Given the description of an element on the screen output the (x, y) to click on. 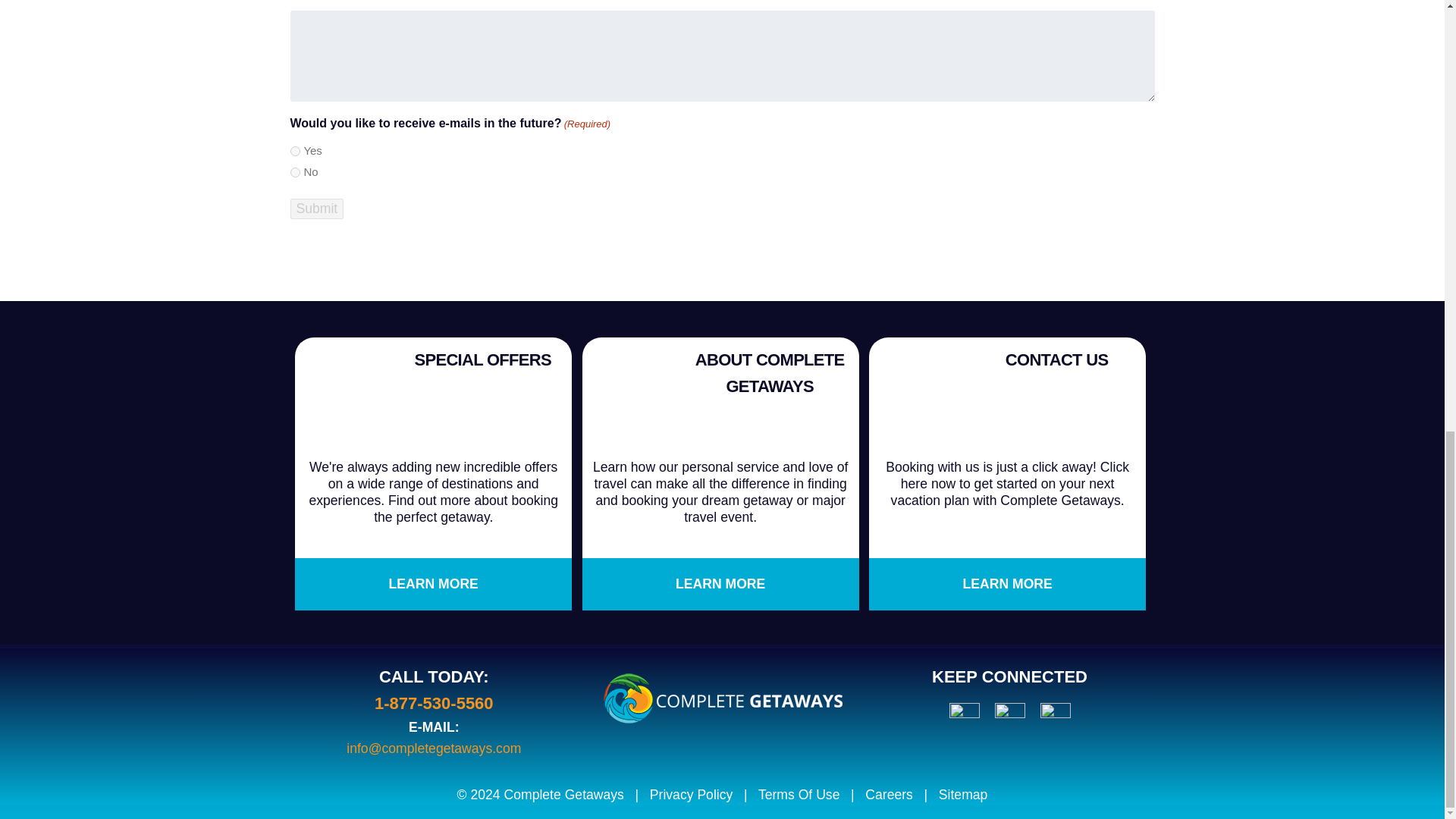
LEARN MORE (433, 583)
SPECIAL OFFERS (482, 359)
pinterest-40 (1009, 717)
1-877-530-5560 (433, 702)
ABOUT COMPLETE GETAWAYS (769, 372)
No (294, 172)
Terms Of Use (799, 794)
Sitemap (963, 794)
Privacy Policy (691, 794)
Careers (888, 794)
